Given the description of an element on the screen output the (x, y) to click on. 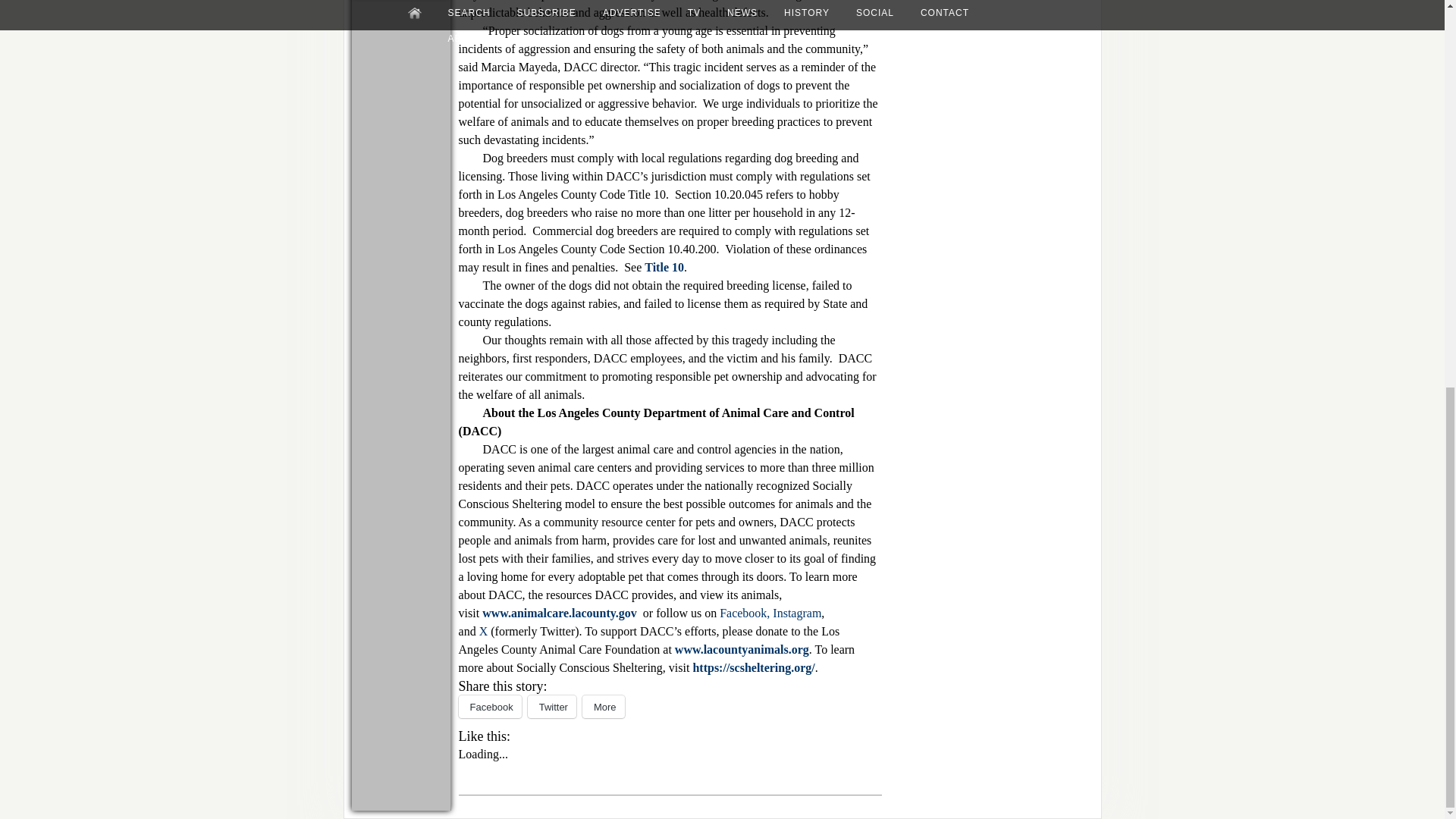
Click to share on Twitter (551, 706)
Click to share on Facebook (489, 706)
